Given the description of an element on the screen output the (x, y) to click on. 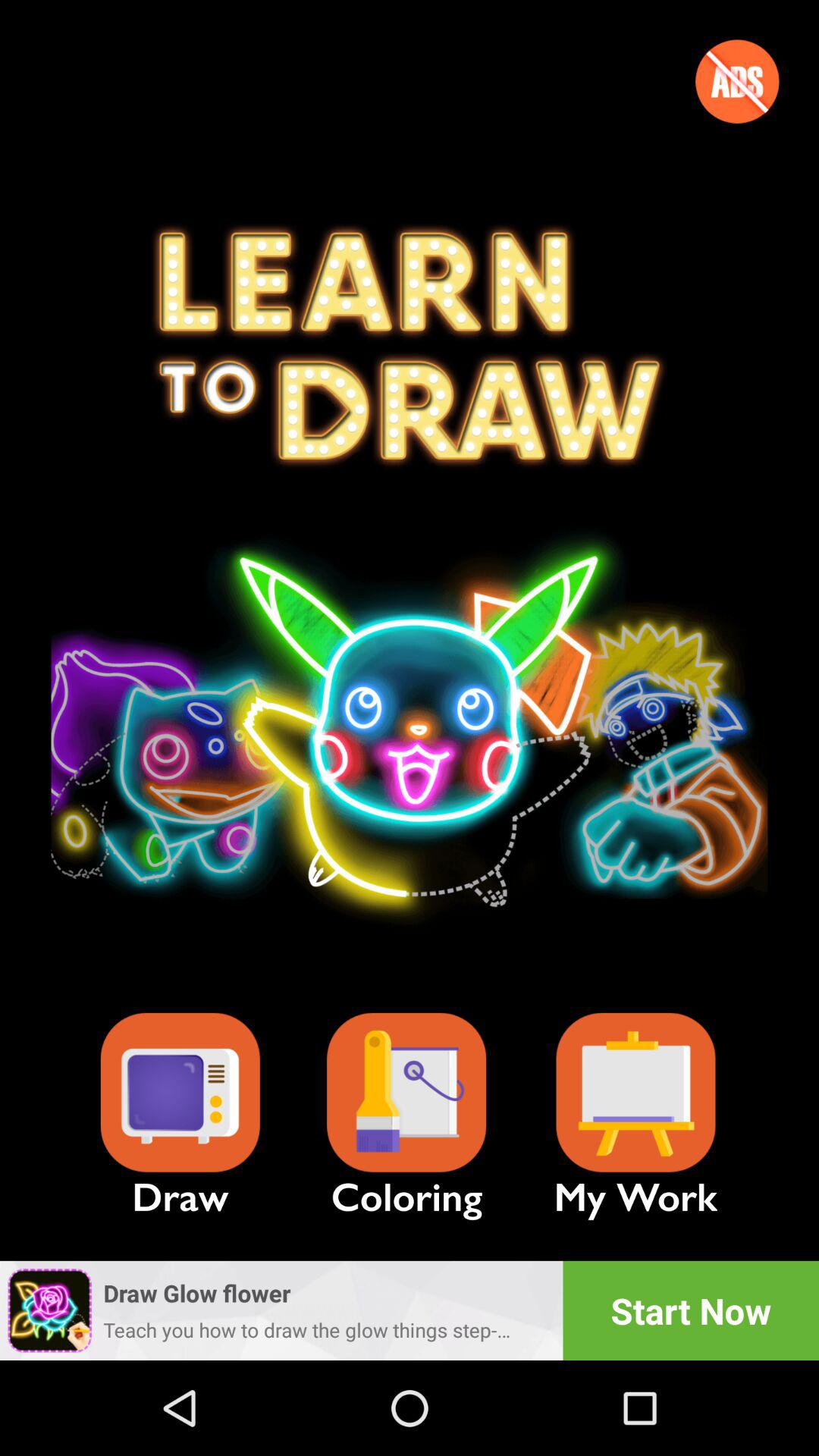
show your details (635, 1092)
